Given the description of an element on the screen output the (x, y) to click on. 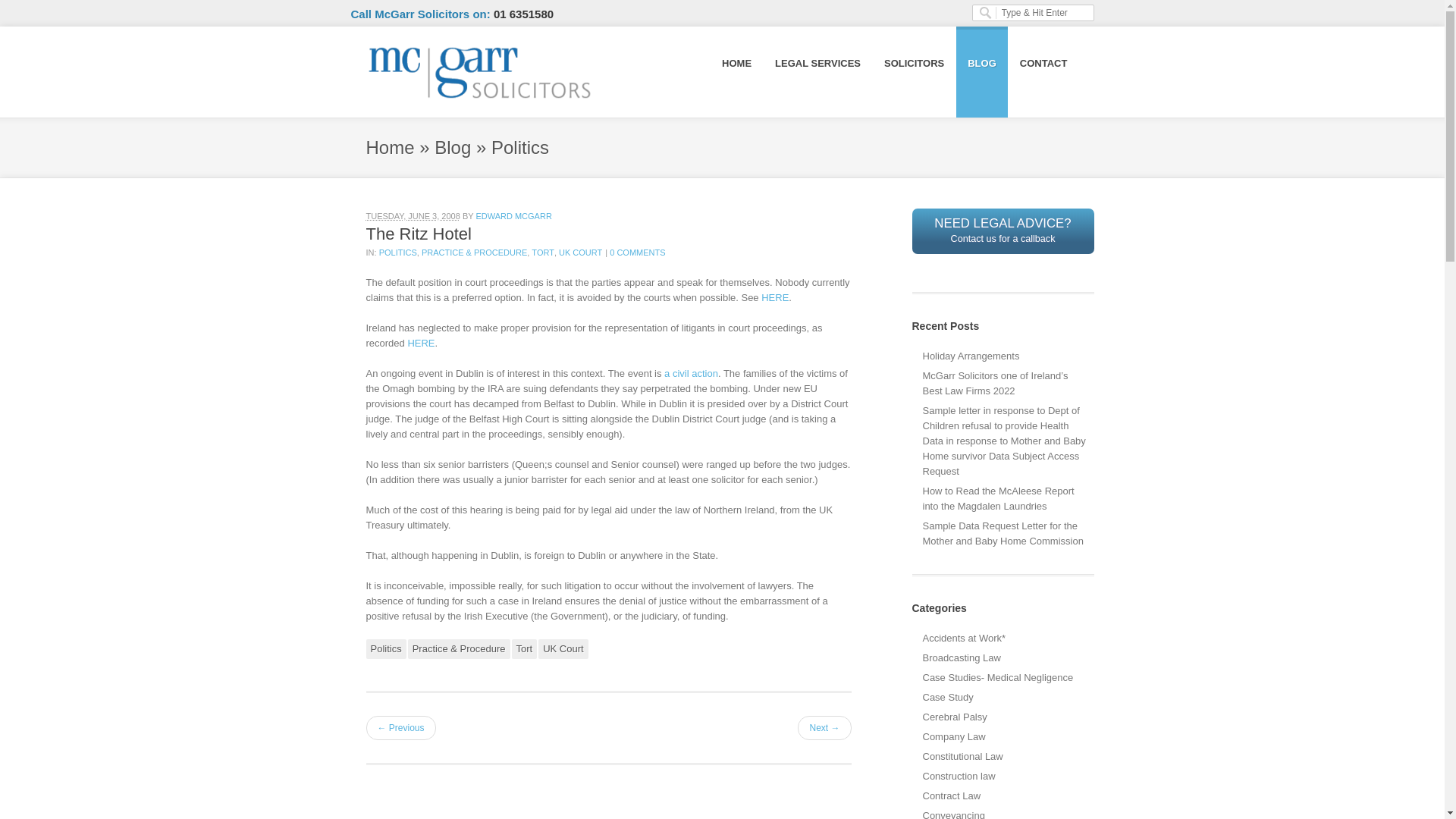
HERE (420, 342)
The Ritz Hotel (1002, 230)
UK Court (417, 233)
Blog (563, 649)
0 COMMENTS (451, 147)
Home (637, 252)
HERE (389, 147)
SOLICITORS (775, 297)
TORT (913, 62)
Read The Ritz Hotel (542, 252)
How to Read the McAleese Report into the Magdalen Laundries (417, 233)
CONTACT (1002, 498)
